Given the description of an element on the screen output the (x, y) to click on. 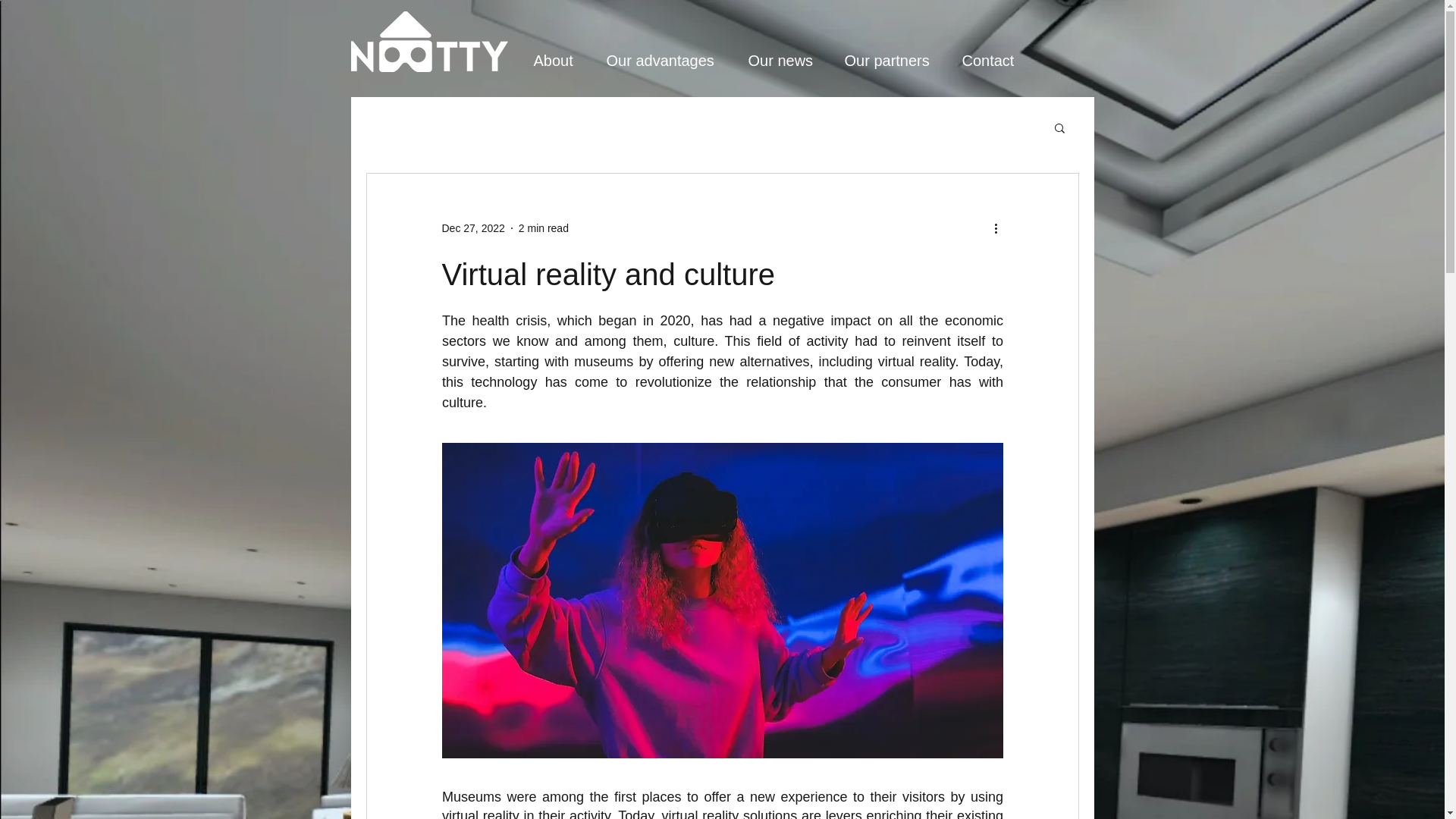
2 min read (543, 227)
Our advantages (669, 60)
Our news (787, 60)
Our partners (896, 60)
Dec 27, 2022 (472, 227)
Contact (996, 60)
About (561, 60)
